Given the description of an element on the screen output the (x, y) to click on. 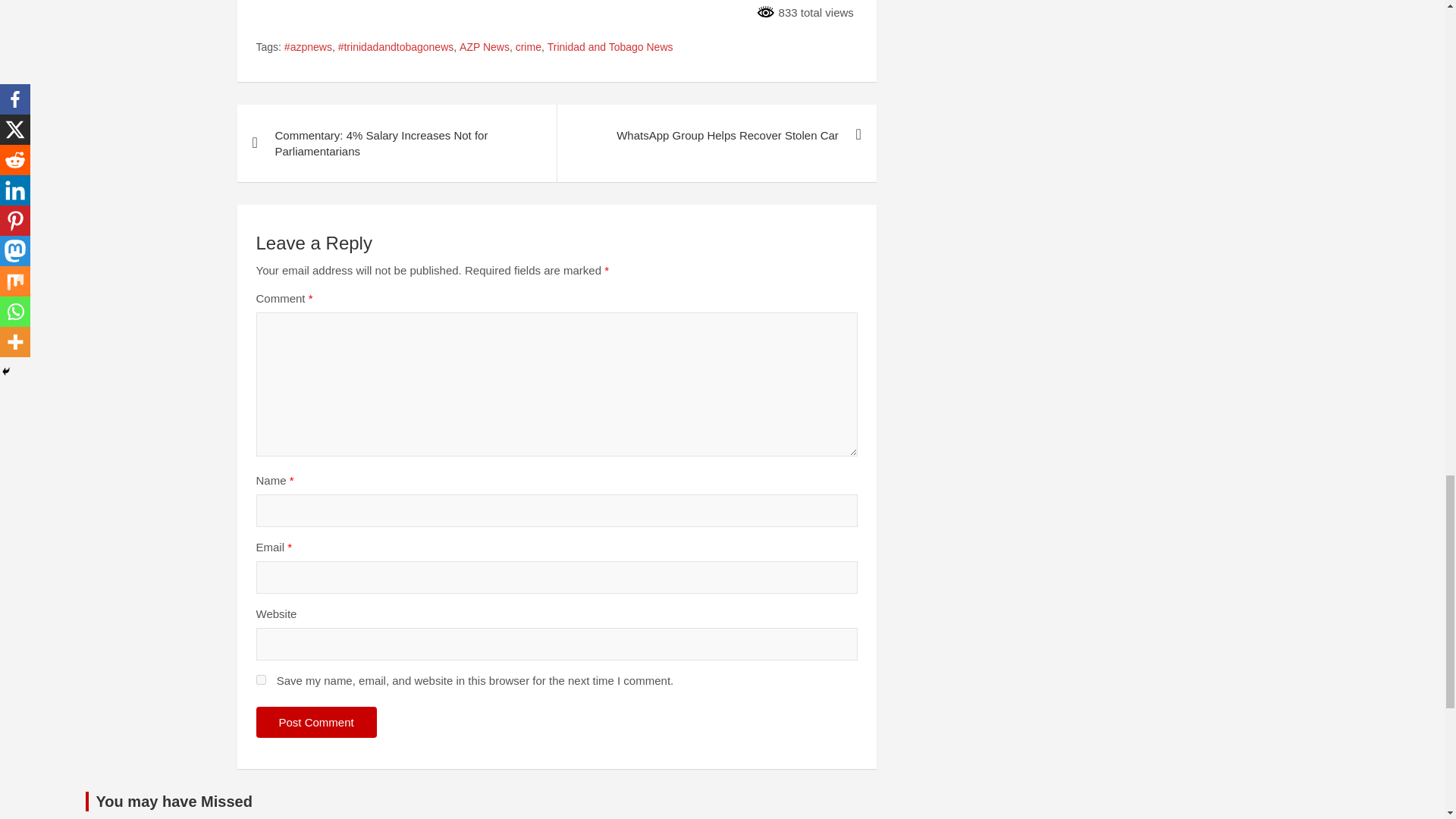
Post Comment (316, 721)
yes (261, 679)
